Given the description of an element on the screen output the (x, y) to click on. 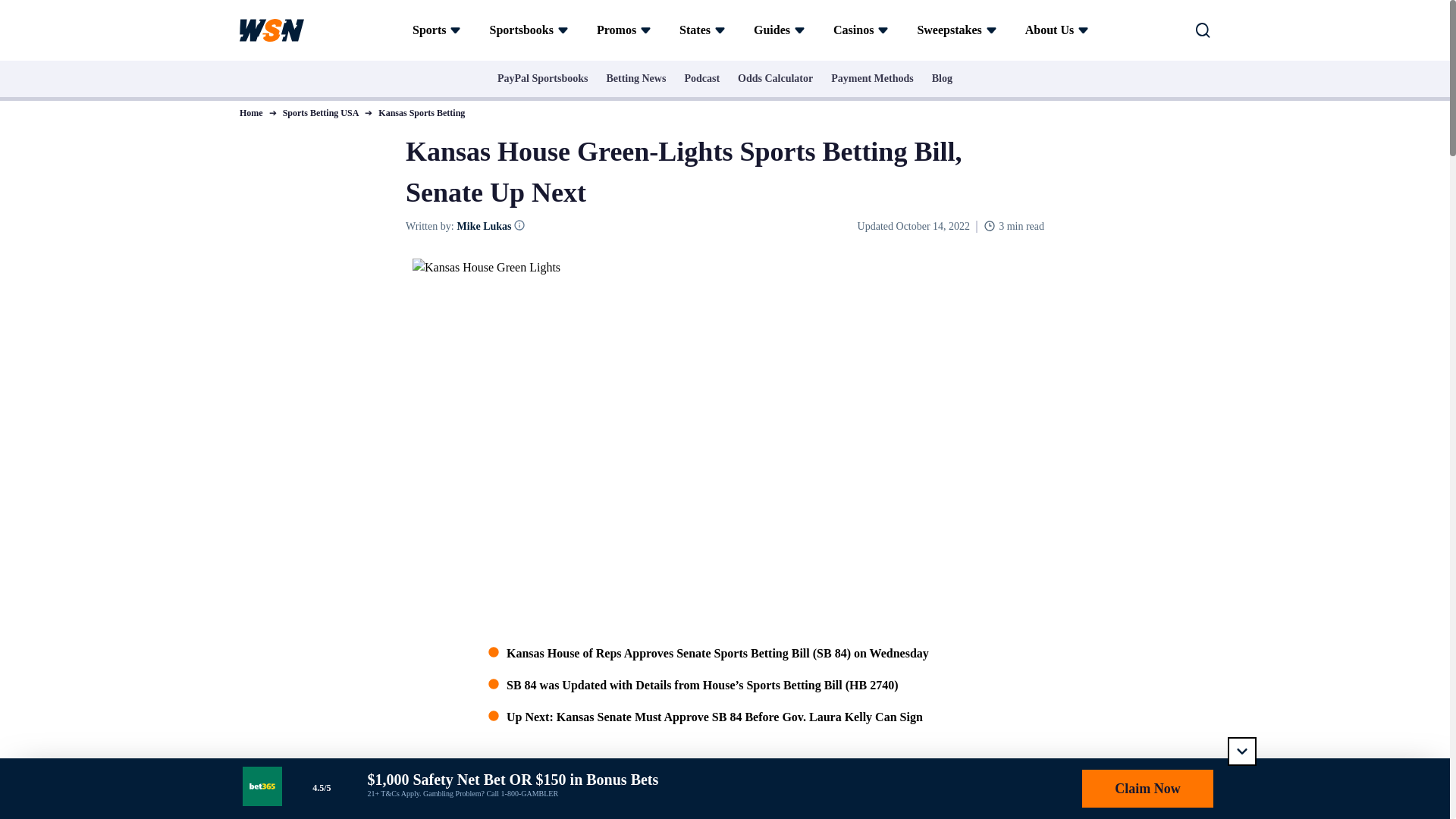
World Sports Network (272, 29)
